Given the description of an element on the screen output the (x, y) to click on. 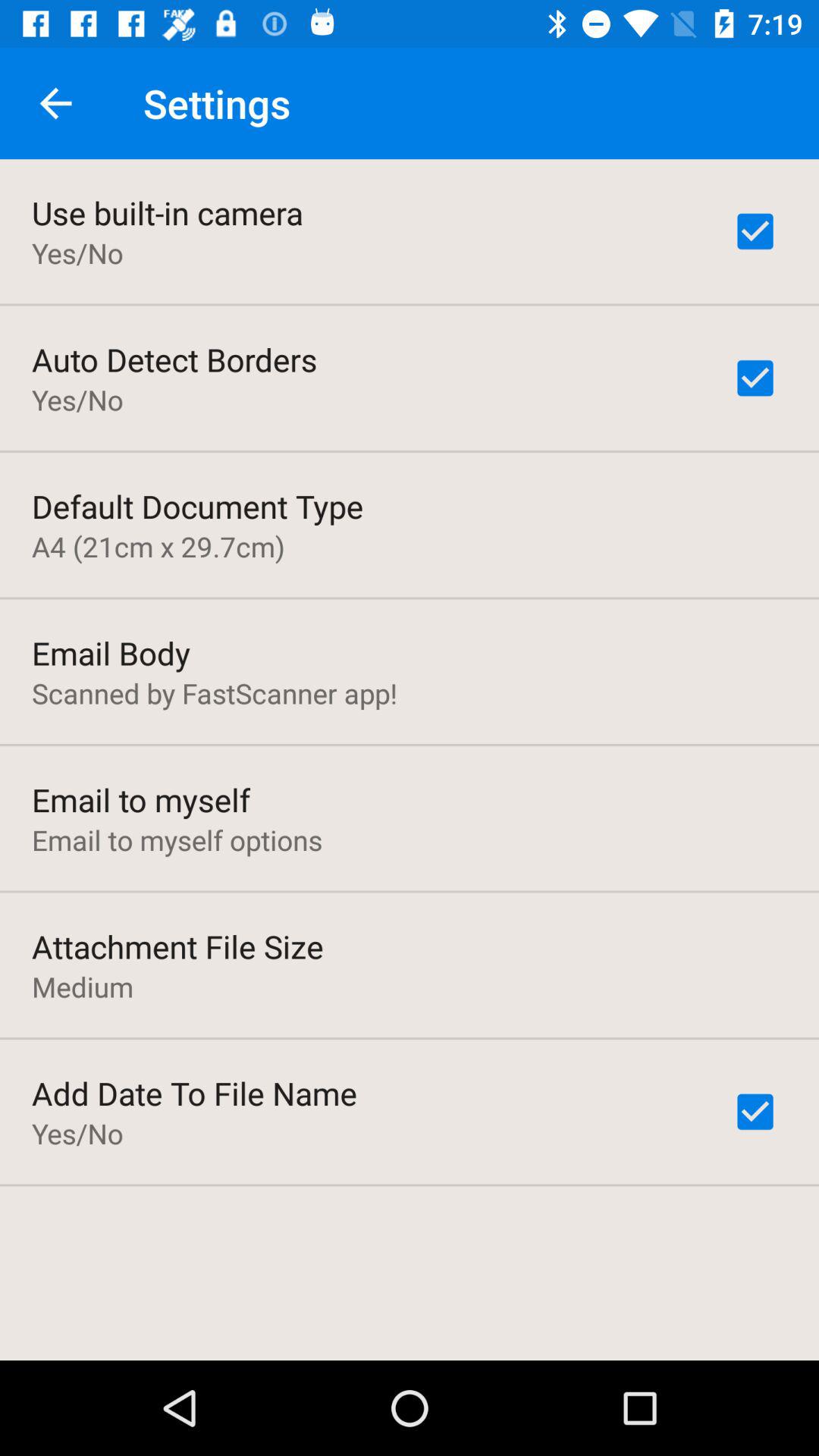
click the a4 21cm x item (157, 546)
